Given the description of an element on the screen output the (x, y) to click on. 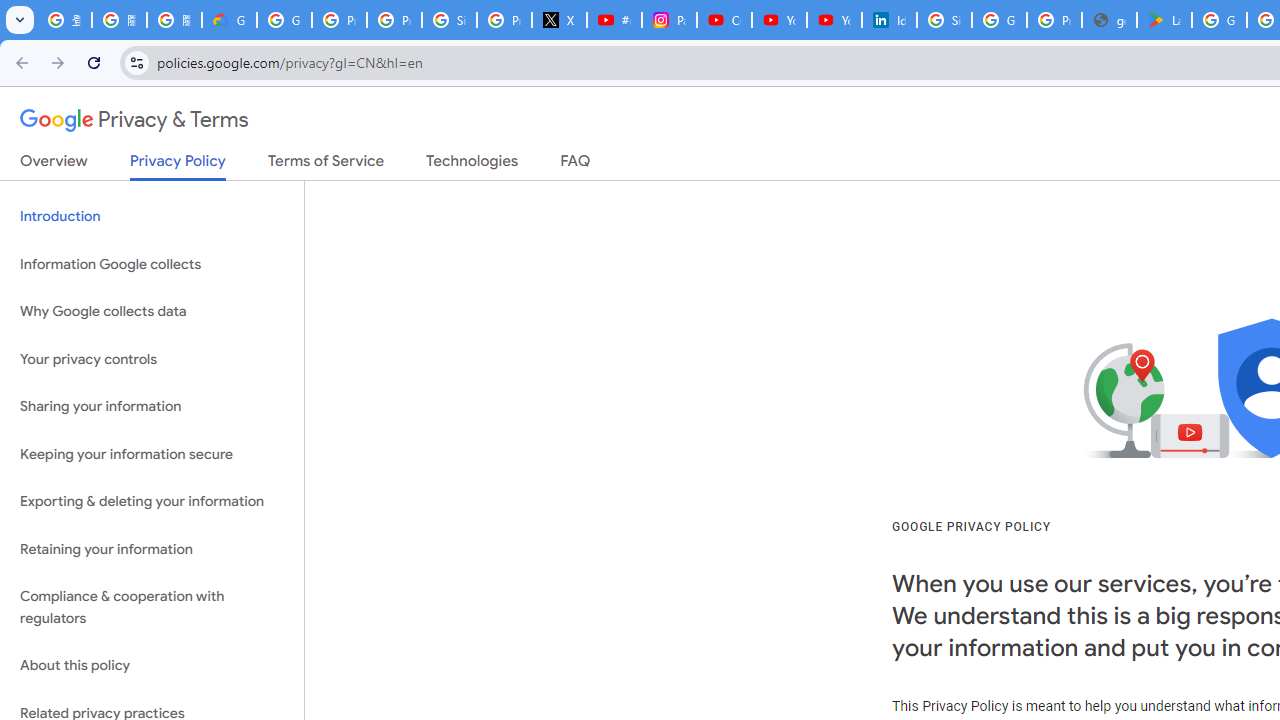
Your privacy controls (152, 358)
Compliance & cooperation with regulators (152, 607)
Sign in - Google Accounts (449, 20)
About this policy (152, 666)
Sharing your information (152, 407)
X (559, 20)
Privacy & Terms (134, 120)
